Given the description of an element on the screen output the (x, y) to click on. 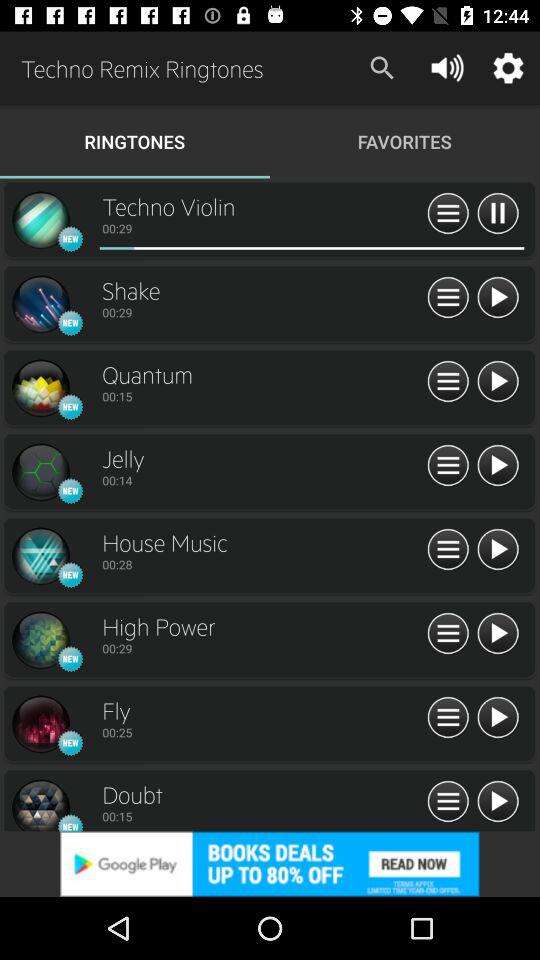
see more info (447, 549)
